Given the description of an element on the screen output the (x, y) to click on. 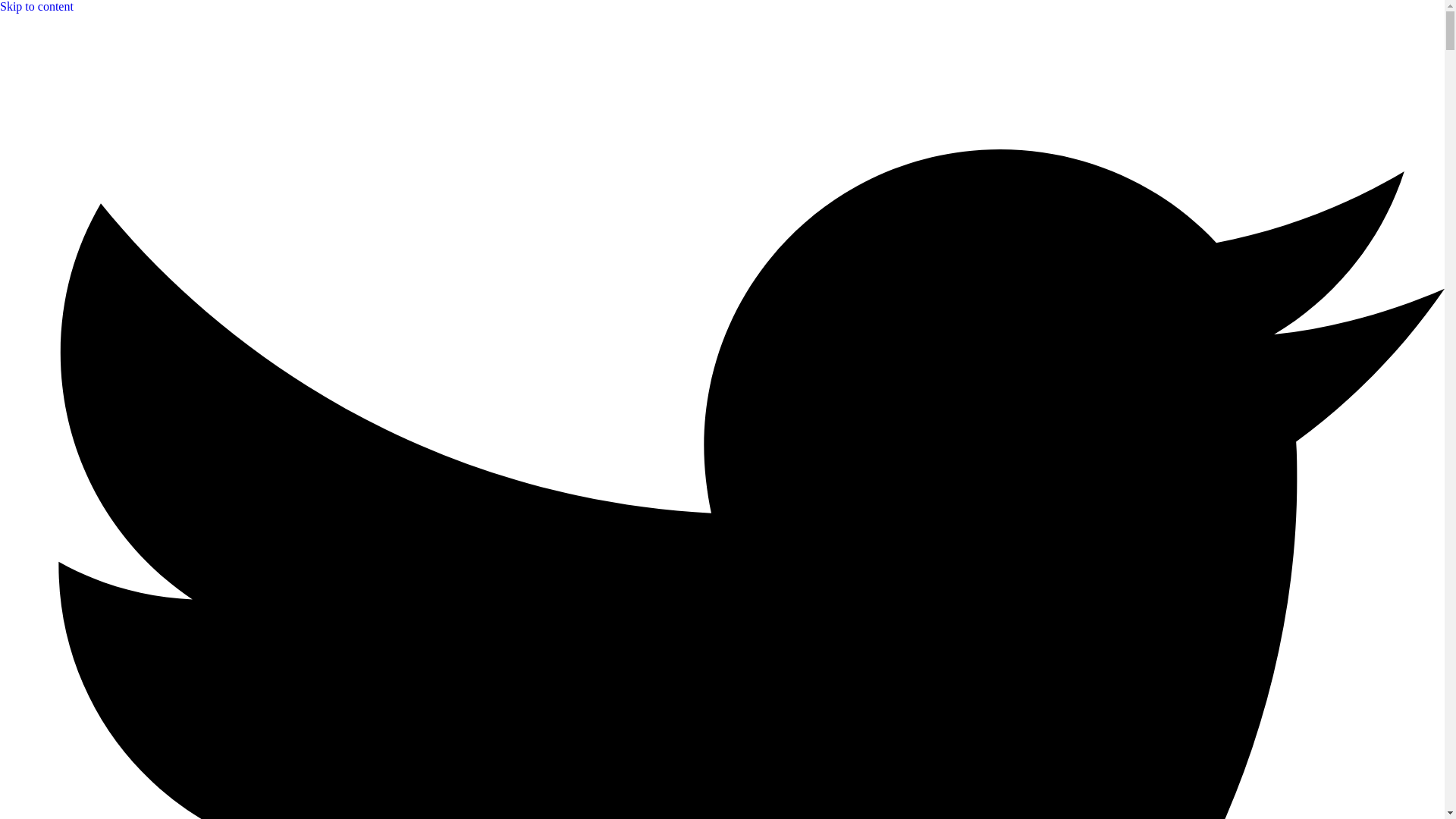
Skip to content (37, 6)
Skip to content (37, 6)
